Given the description of an element on the screen output the (x, y) to click on. 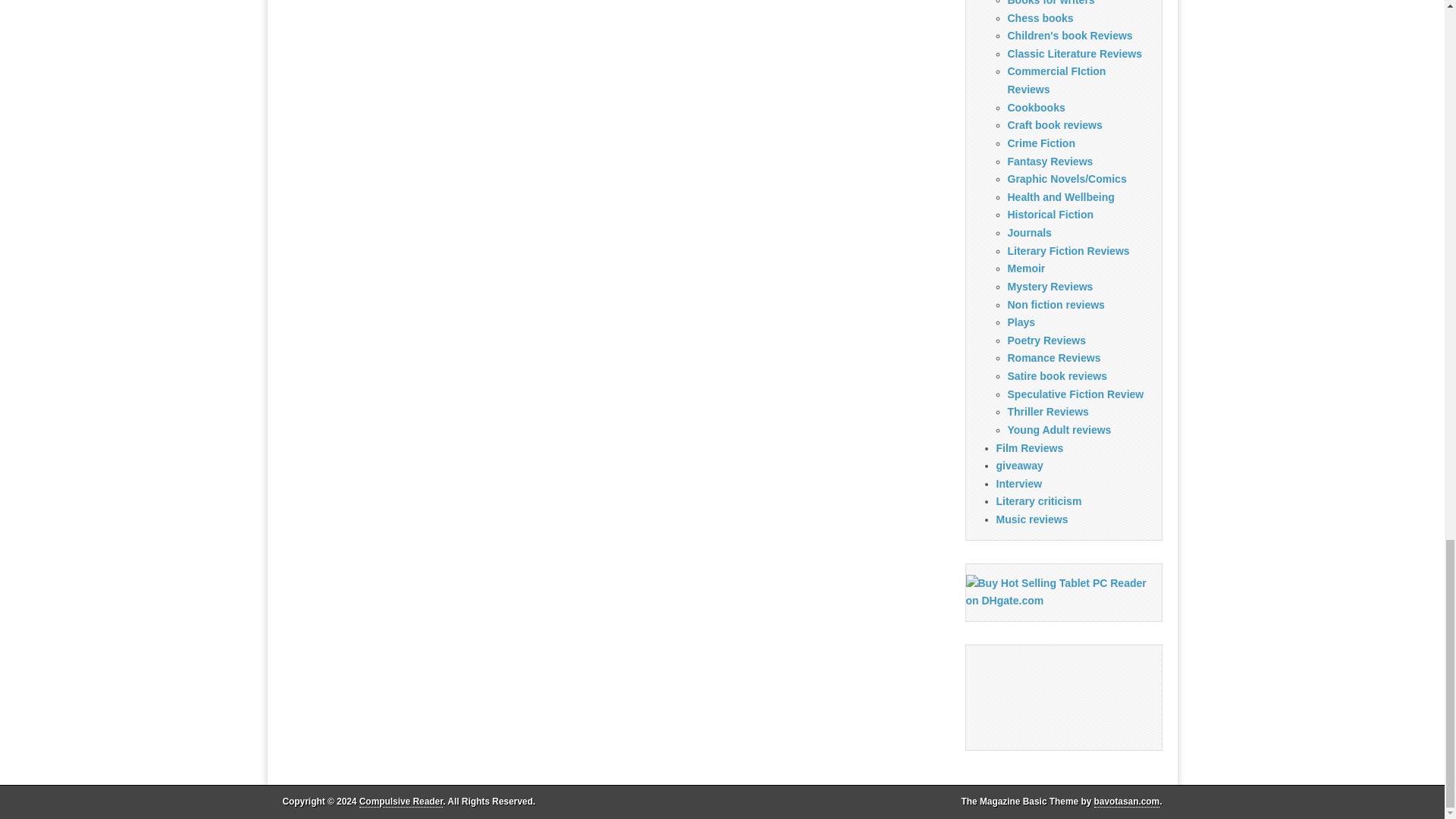
Children's book Reviews (1069, 35)
Books for writers (1050, 2)
Craft book reviews (1054, 124)
Commercial FIction Reviews (1056, 80)
Chess books (1040, 18)
Cookbooks (1035, 107)
Classic Literature Reviews (1074, 53)
